Given the description of an element on the screen output the (x, y) to click on. 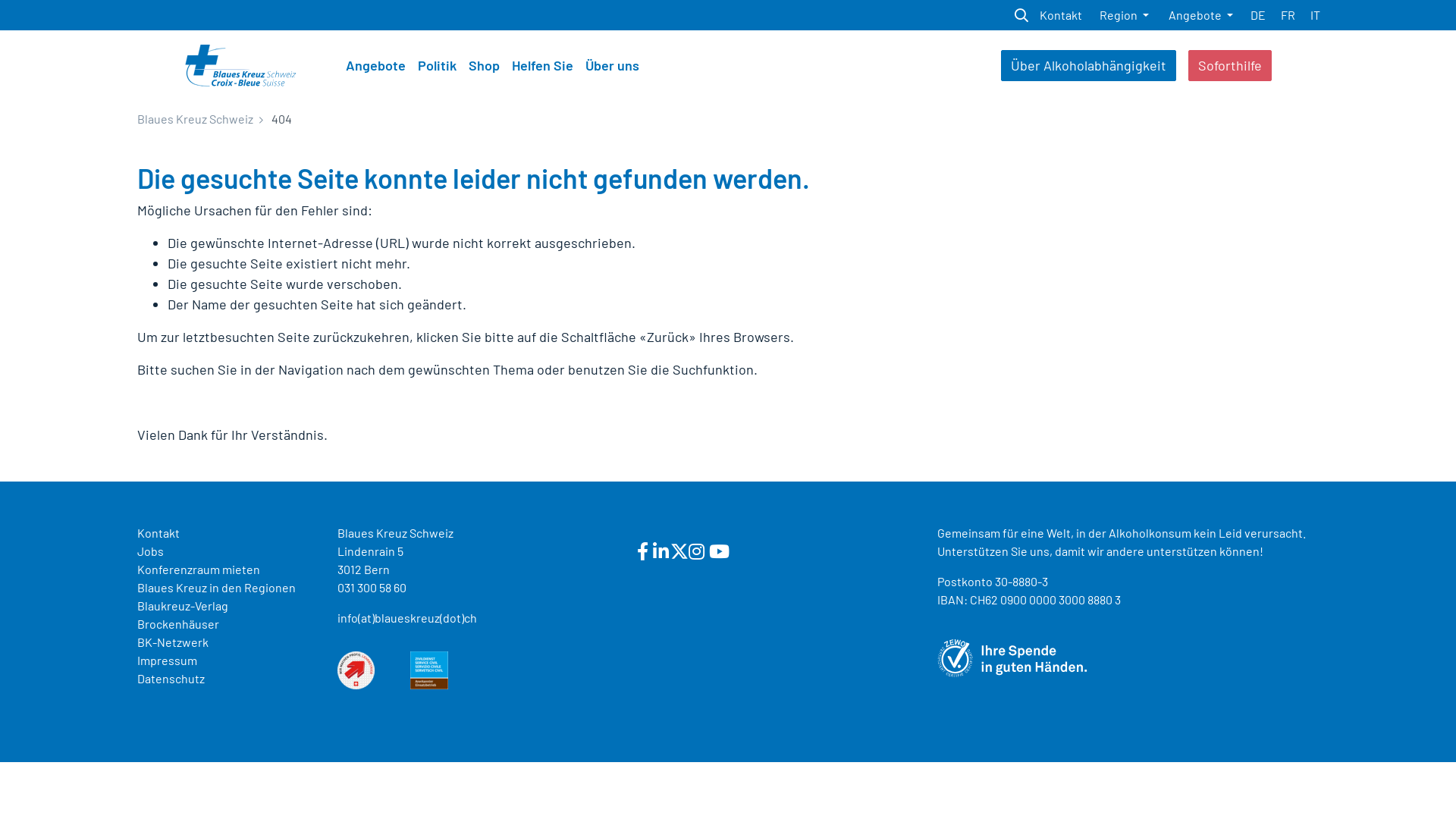
Blaues Kreuz Schweiz Element type: text (195, 118)
Kontakt Element type: text (1060, 15)
FR Element type: text (1287, 15)
Impressum Element type: text (167, 659)
info(at)blaueskreuz(dot)ch Element type: text (406, 617)
Helfen Sie Element type: text (542, 65)
Politik Element type: text (436, 65)
Shop Element type: text (483, 65)
Konferenzraum mieten Element type: text (198, 568)
DE Element type: text (1257, 15)
031 300 58 60 Element type: text (371, 587)
IT Element type: text (1314, 15)
Blaues Kreuz in den Regionen Element type: text (216, 587)
Postkonto 30-8880-3
IBAN: CH62 0900 0000 3000 8880 3 Element type: text (1028, 590)
Region Element type: text (1123, 14)
Angebote Element type: text (1200, 14)
Datenschutz Element type: text (170, 678)
Kontakt Element type: text (158, 532)
Soforthilfe Element type: text (1229, 65)
Blaukreuz-Verlag Element type: text (182, 605)
Angebote Element type: text (375, 65)
BK-Netzwerk Element type: text (172, 641)
Jobs Element type: text (150, 550)
